Given the description of an element on the screen output the (x, y) to click on. 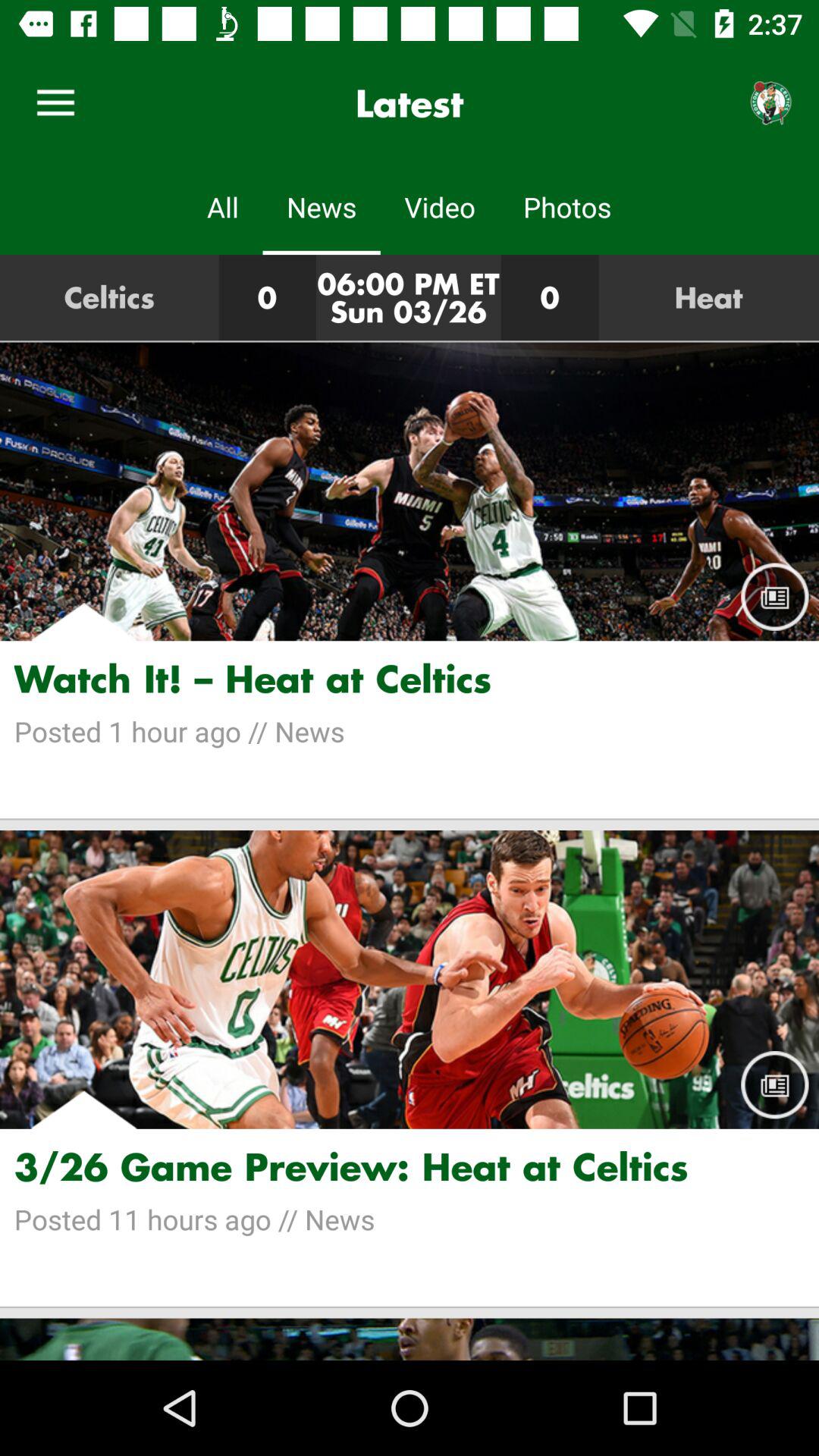
open icon above the celtics item (55, 103)
